Given the description of an element on the screen output the (x, y) to click on. 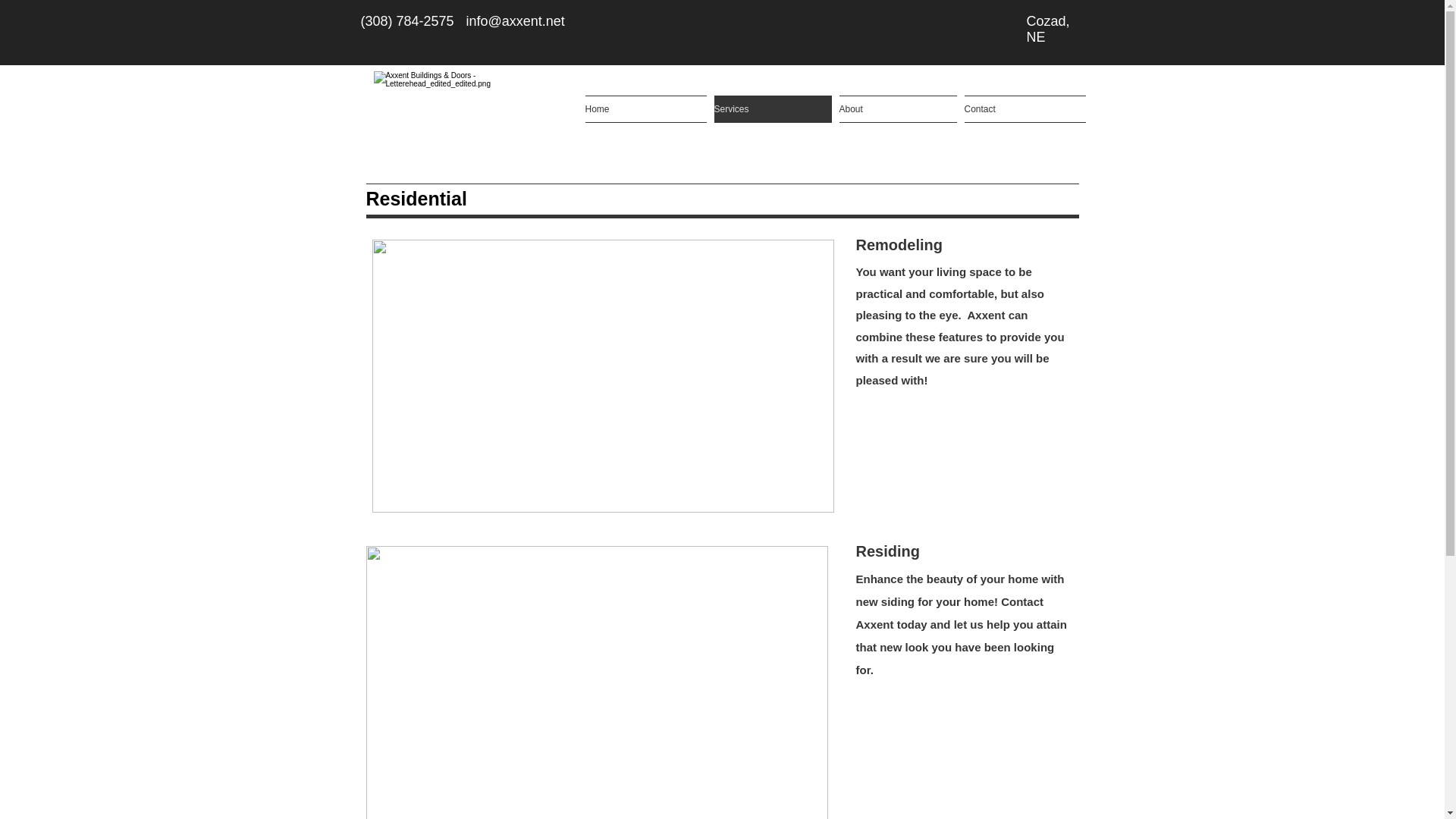
Contact (1021, 108)
Services (772, 108)
About (897, 108)
Home (647, 108)
